Given the description of an element on the screen output the (x, y) to click on. 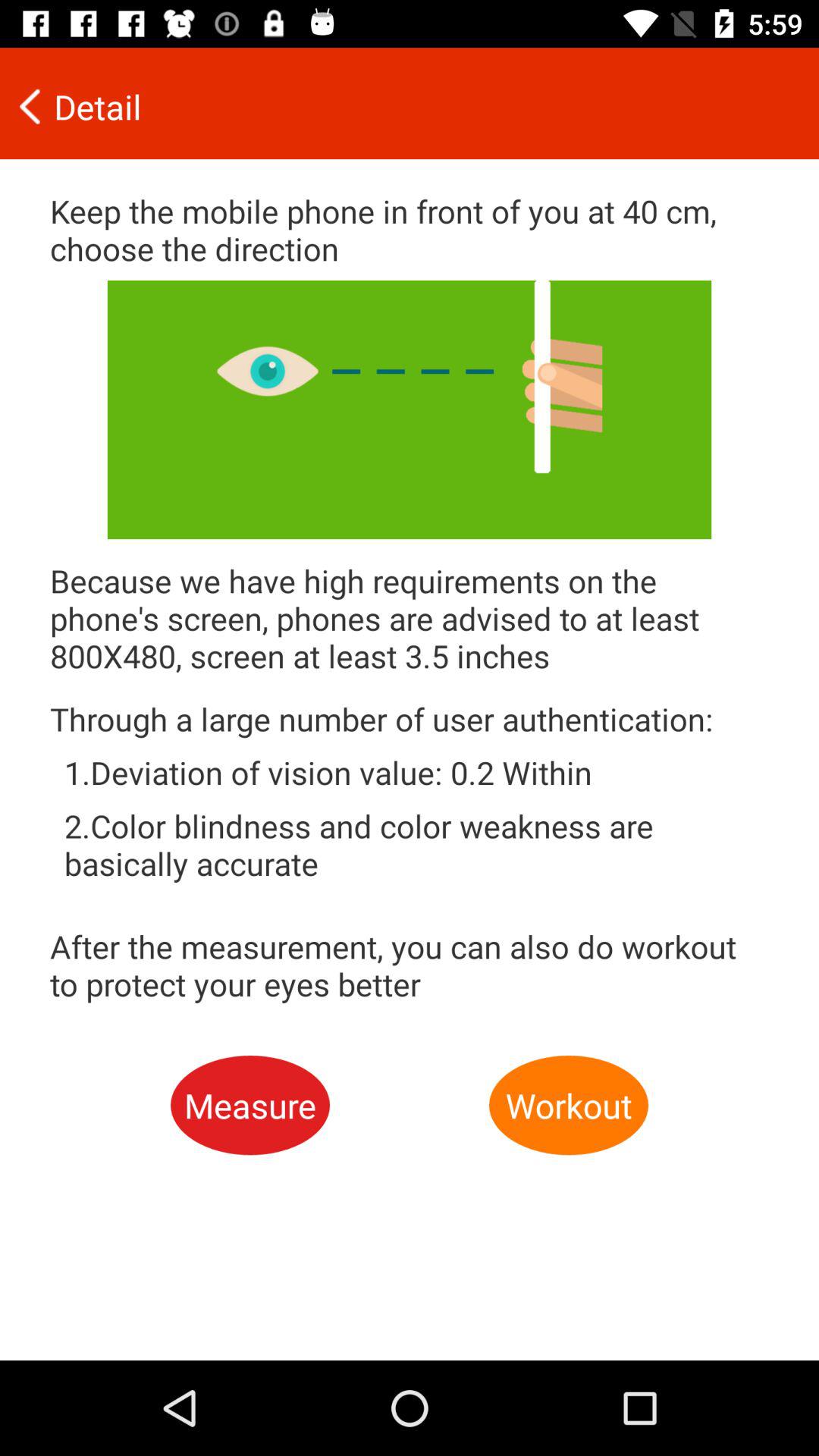
launch detail item (399, 106)
